Given the description of an element on the screen output the (x, y) to click on. 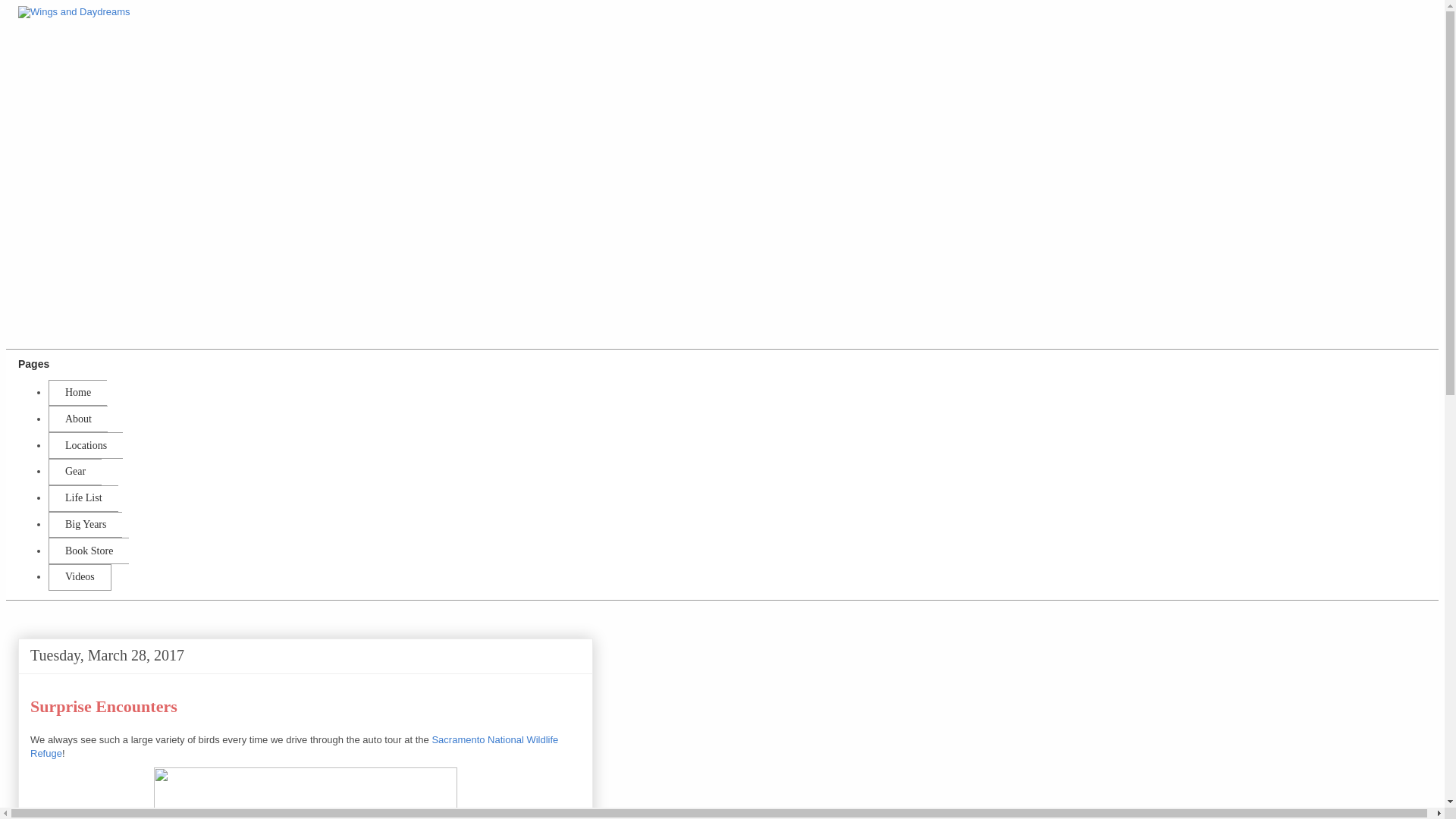
About (77, 418)
Videos (80, 577)
Big Years (85, 524)
Gear (74, 471)
Home (77, 393)
Sacramento National Wildlife Refuge (293, 746)
Locations (85, 445)
Life List (82, 498)
Sacramento National Wildlife Refuge (305, 789)
Book Store (88, 550)
